Given the description of an element on the screen output the (x, y) to click on. 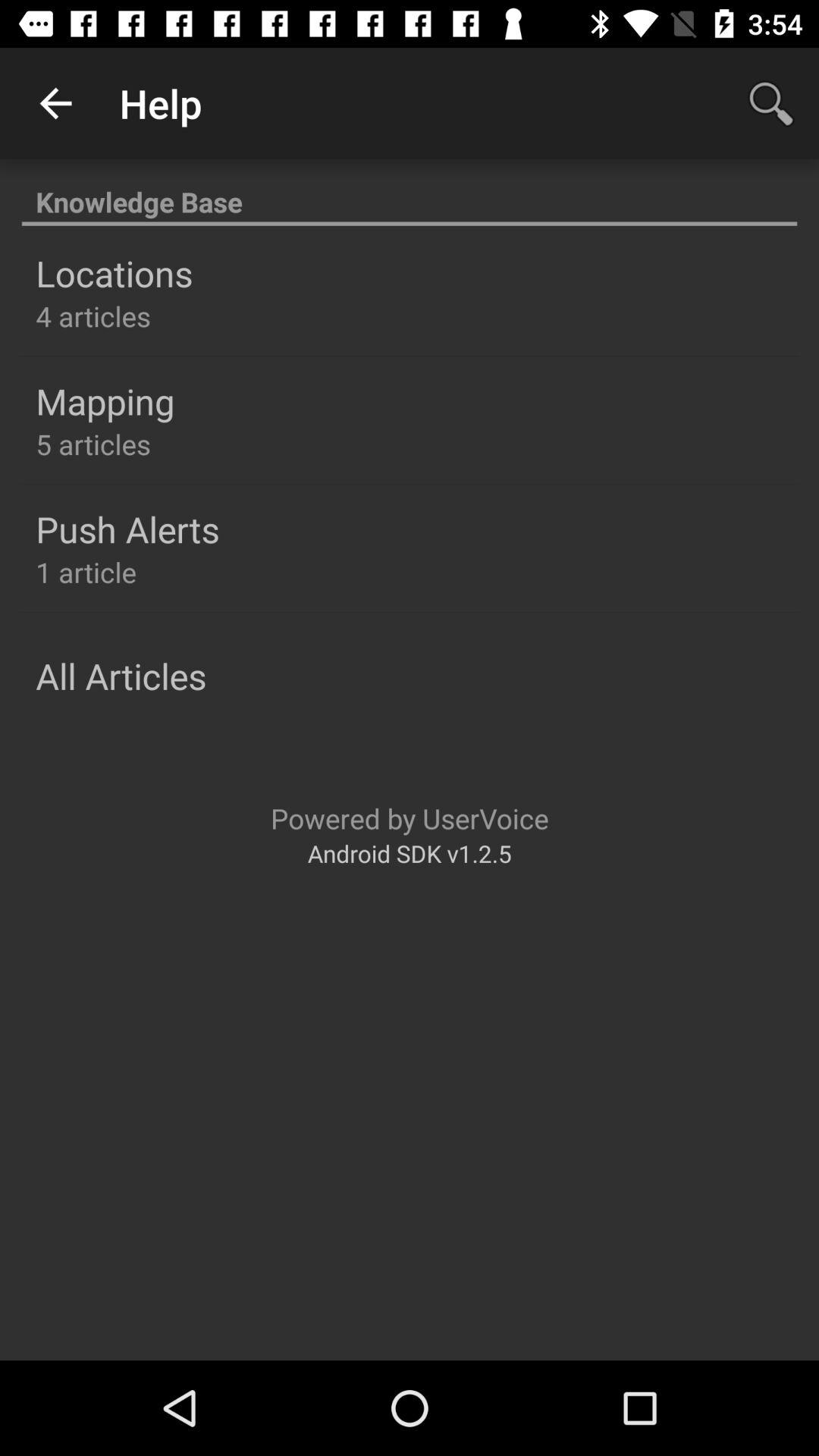
turn on icon above the 5 articles item (104, 401)
